Given the description of an element on the screen output the (x, y) to click on. 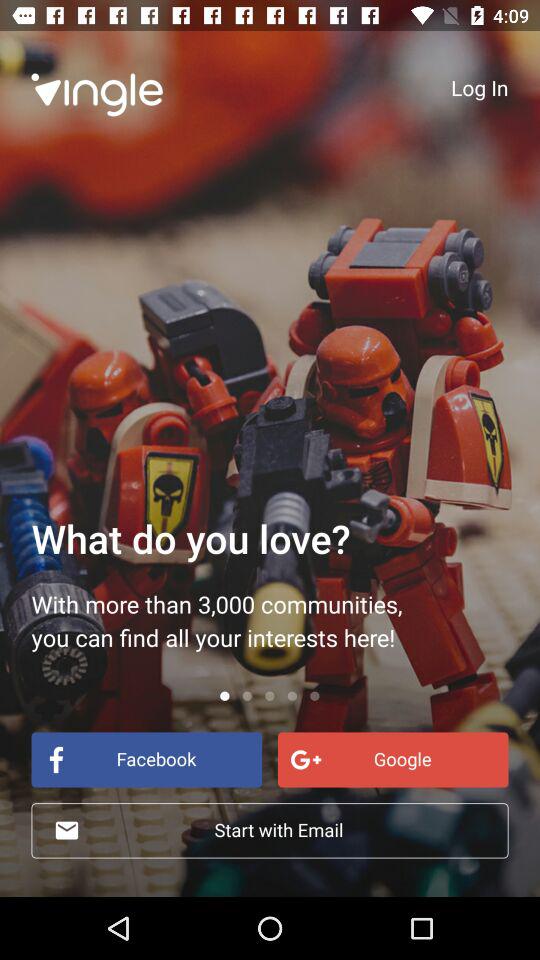
select start with email item (269, 830)
